Given the description of an element on the screen output the (x, y) to click on. 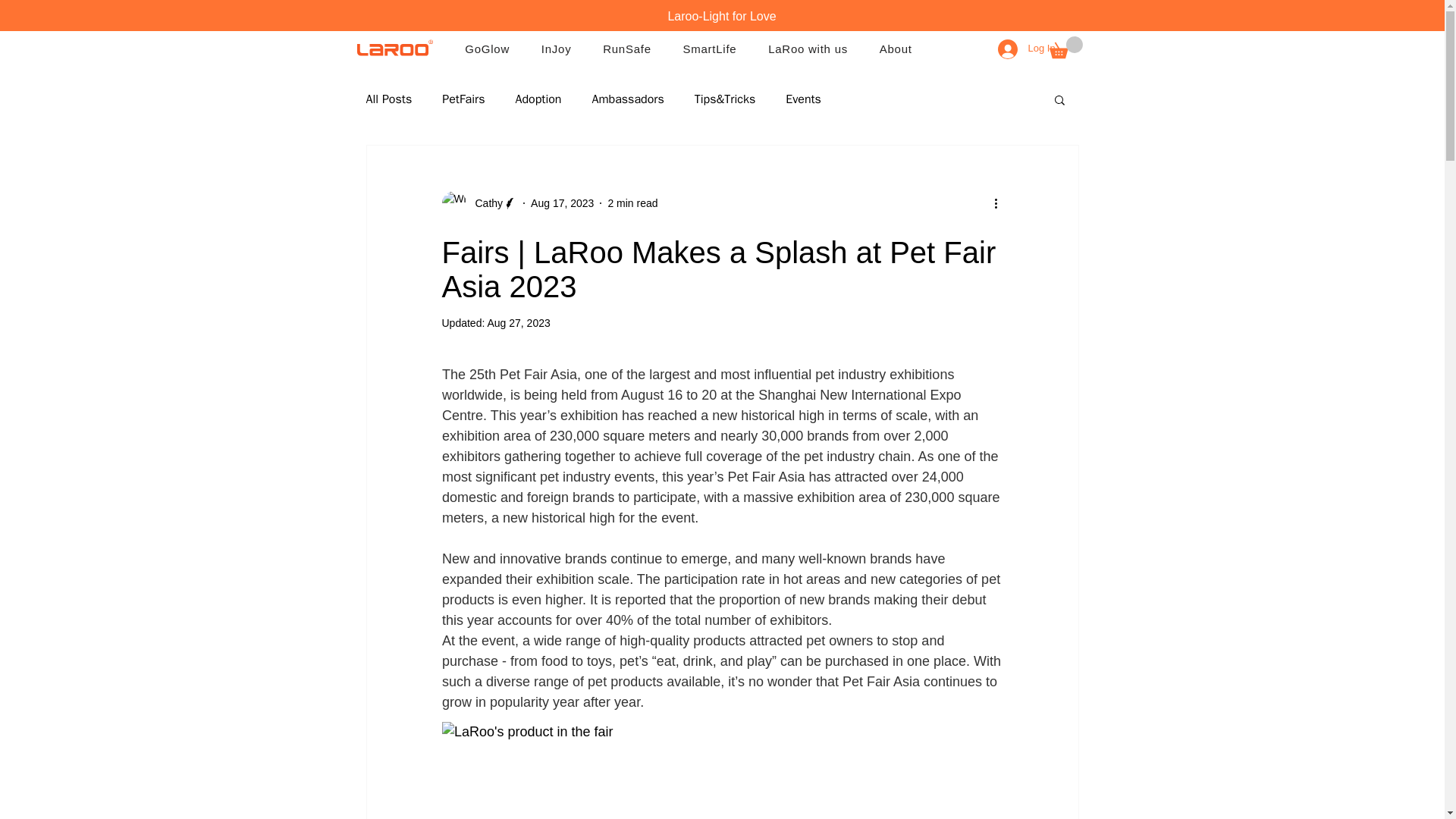
Cathy (483, 203)
InJoy (555, 48)
Aug 17, 2023 (562, 203)
GoGlow (486, 48)
SmartLife (709, 48)
Adoption (537, 99)
All Posts (388, 99)
Aug 27, 2023 (518, 322)
RunSafe (626, 48)
PetFairs (463, 99)
